Given the description of an element on the screen output the (x, y) to click on. 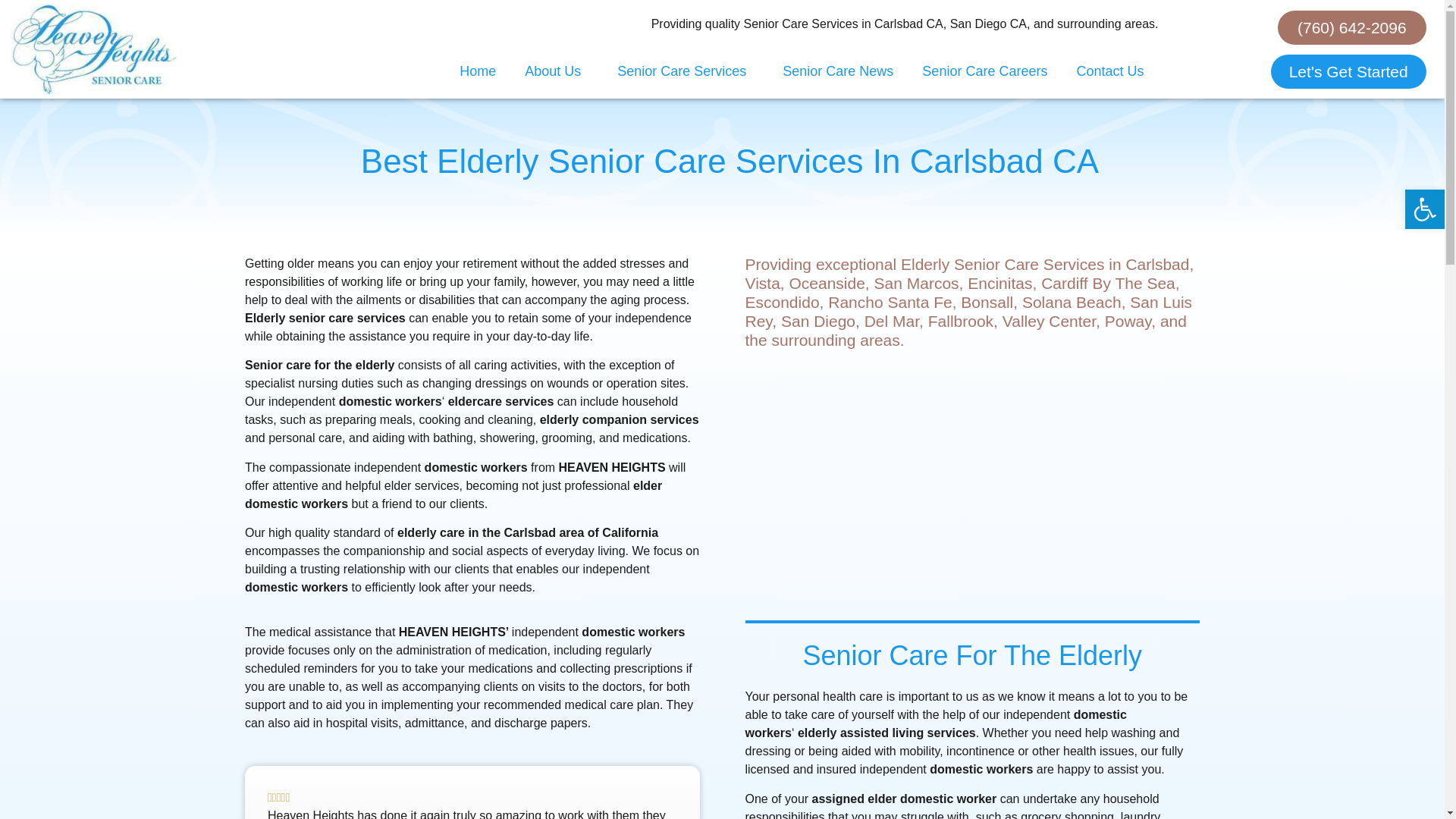
Home (478, 70)
Contact Us (1109, 70)
Senior Care News (837, 70)
Let's Get Started (1348, 71)
Senior Care Careers (984, 70)
Senior Care Services (685, 70)
Accessibility Tools (1424, 209)
About Us (556, 70)
